Given the description of an element on the screen output the (x, y) to click on. 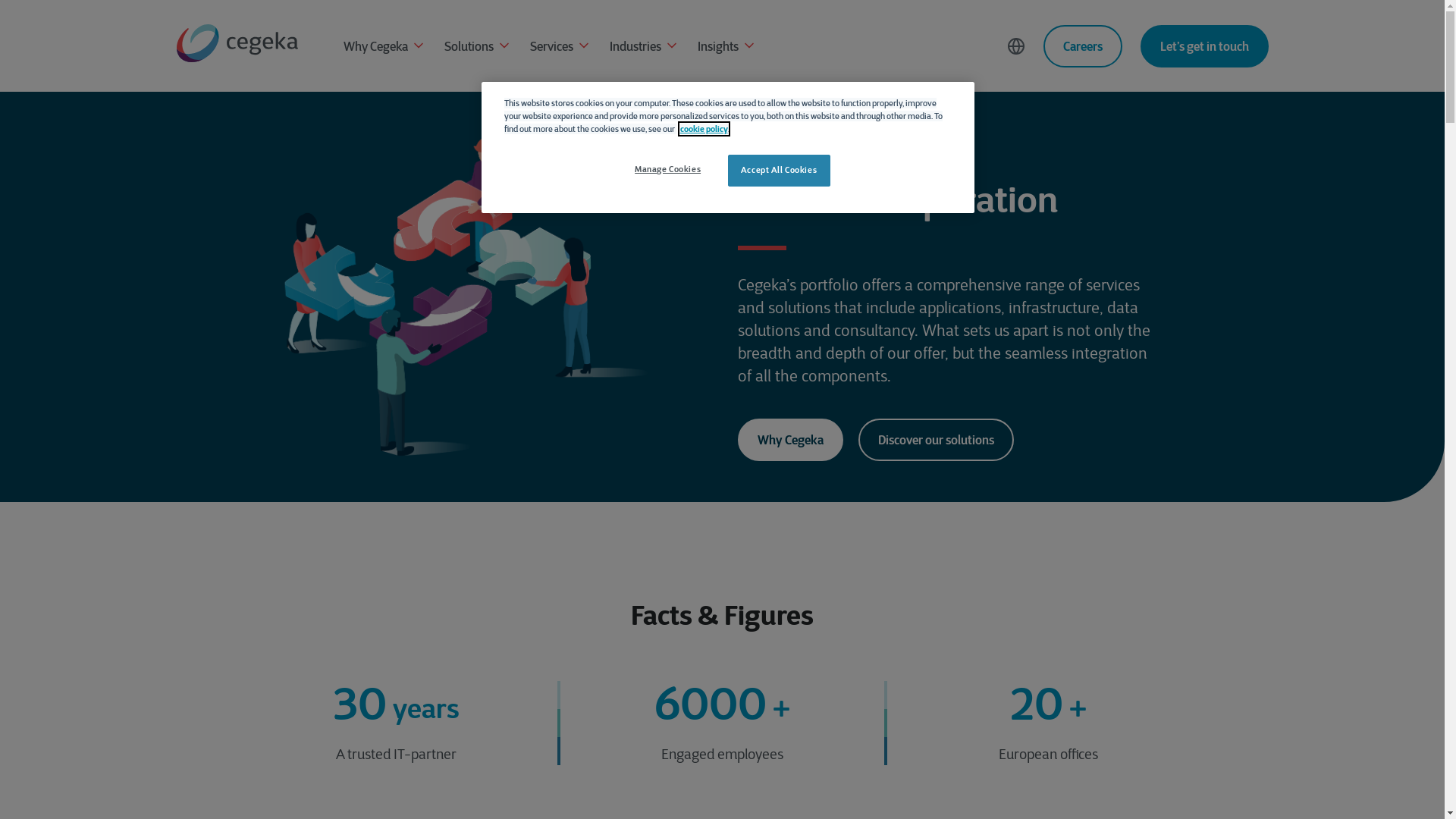
cookie policy Element type: text (703, 128)
Accept All Cookies Element type: text (779, 170)
Manage Cookies Element type: text (667, 169)
